Given the description of an element on the screen output the (x, y) to click on. 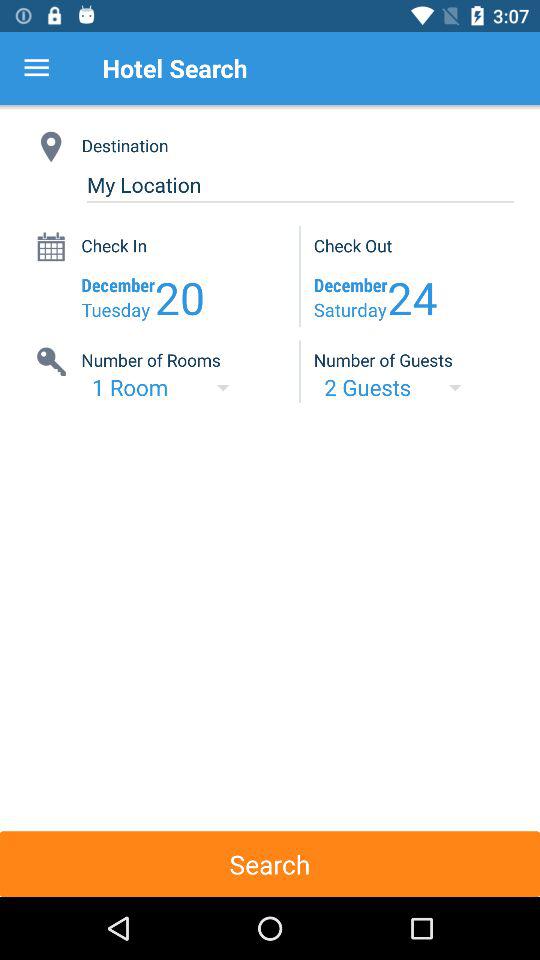
turn off my location (300, 184)
